Given the description of an element on the screen output the (x, y) to click on. 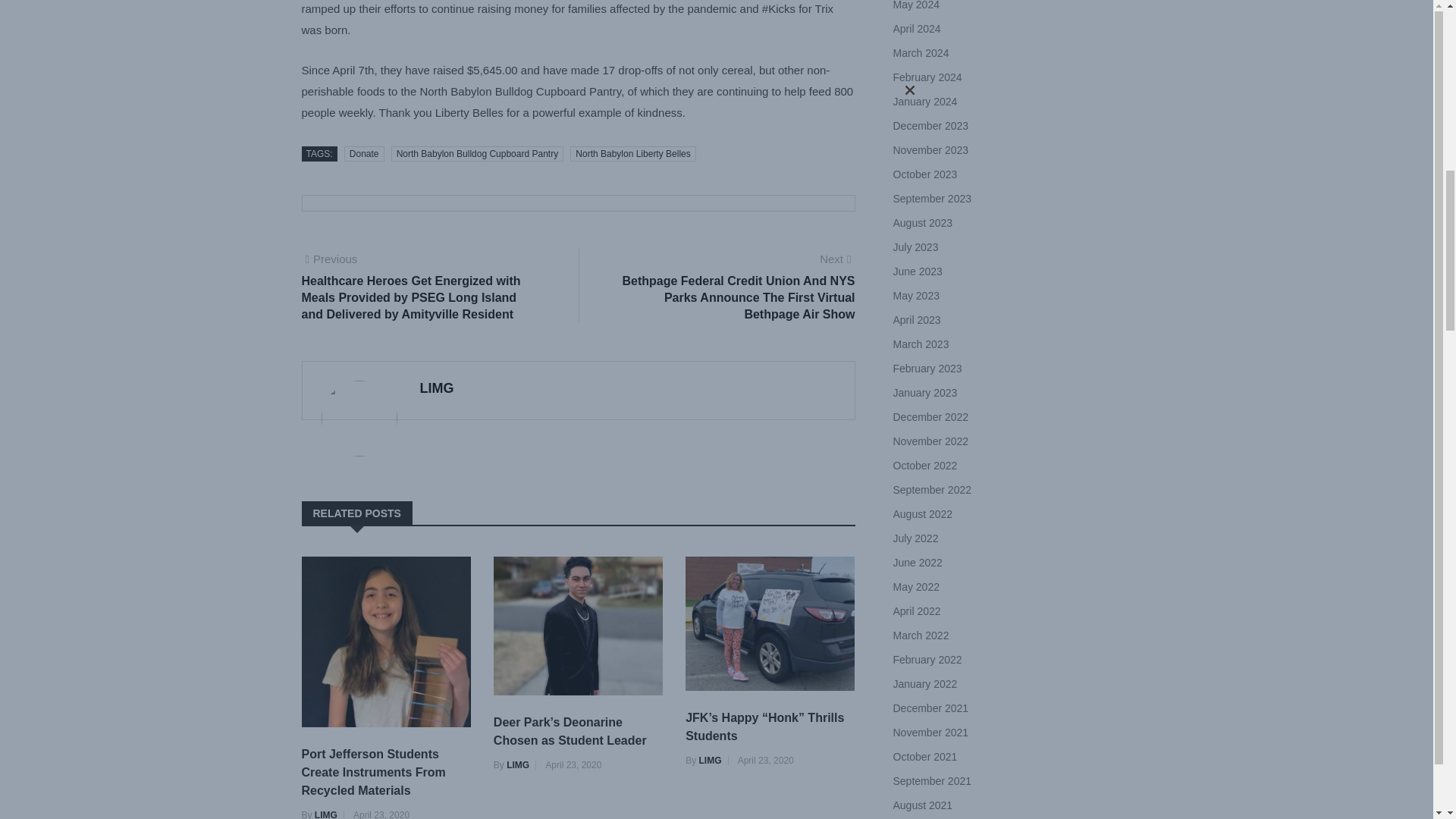
LIMG (437, 387)
North Babylon Bulldog Cupboard Pantry (477, 153)
Donate (363, 153)
North Babylon Liberty Belles (632, 153)
